Given the description of an element on the screen output the (x, y) to click on. 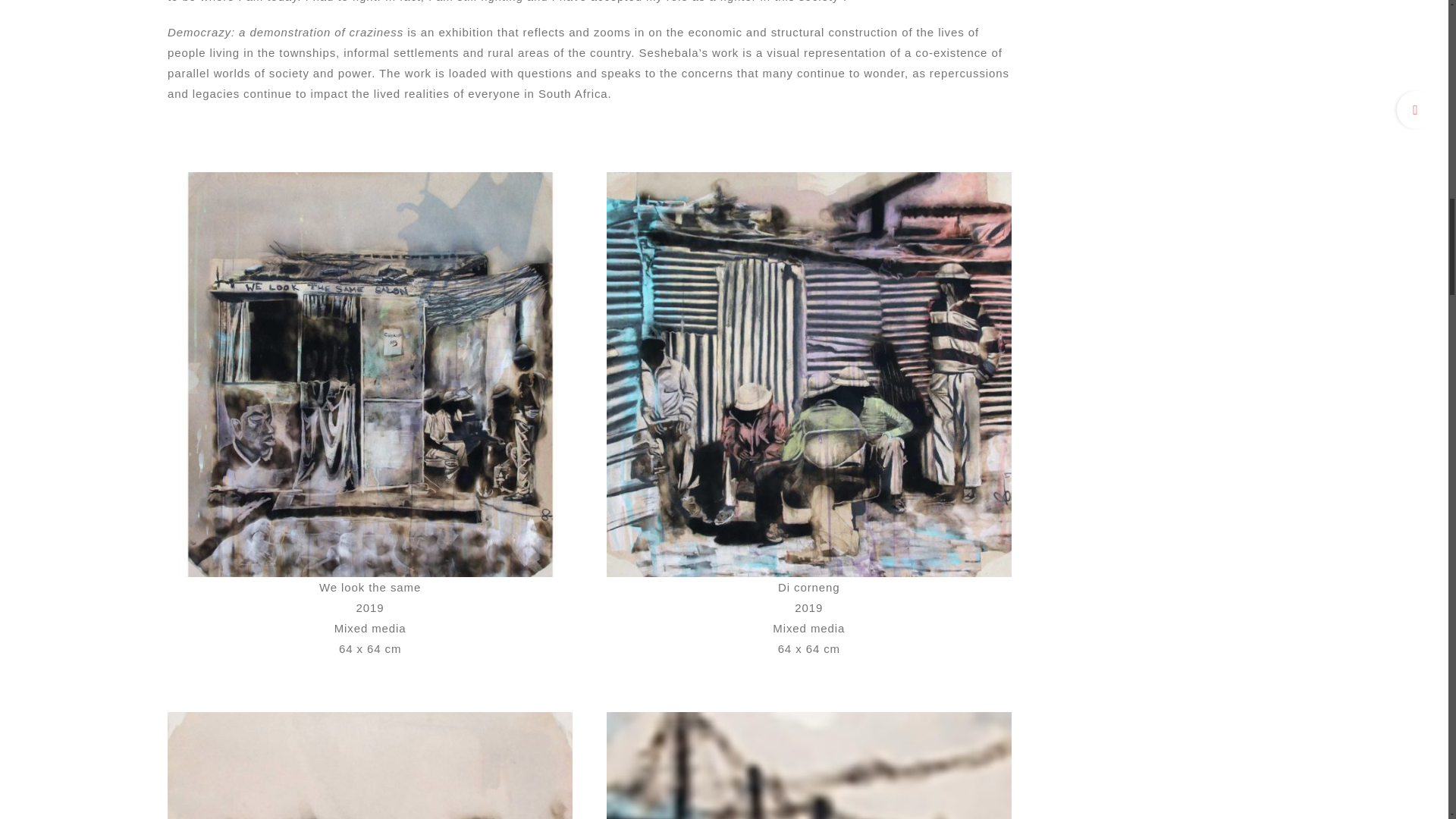
Ofentse Seshabela Shop to Live 2019 Mixed media 64 x 64 cm (369, 717)
Ofentse Seshabela Di corneng 2019 Mixed media 64 x 64 cm (809, 177)
